Given the description of an element on the screen output the (x, y) to click on. 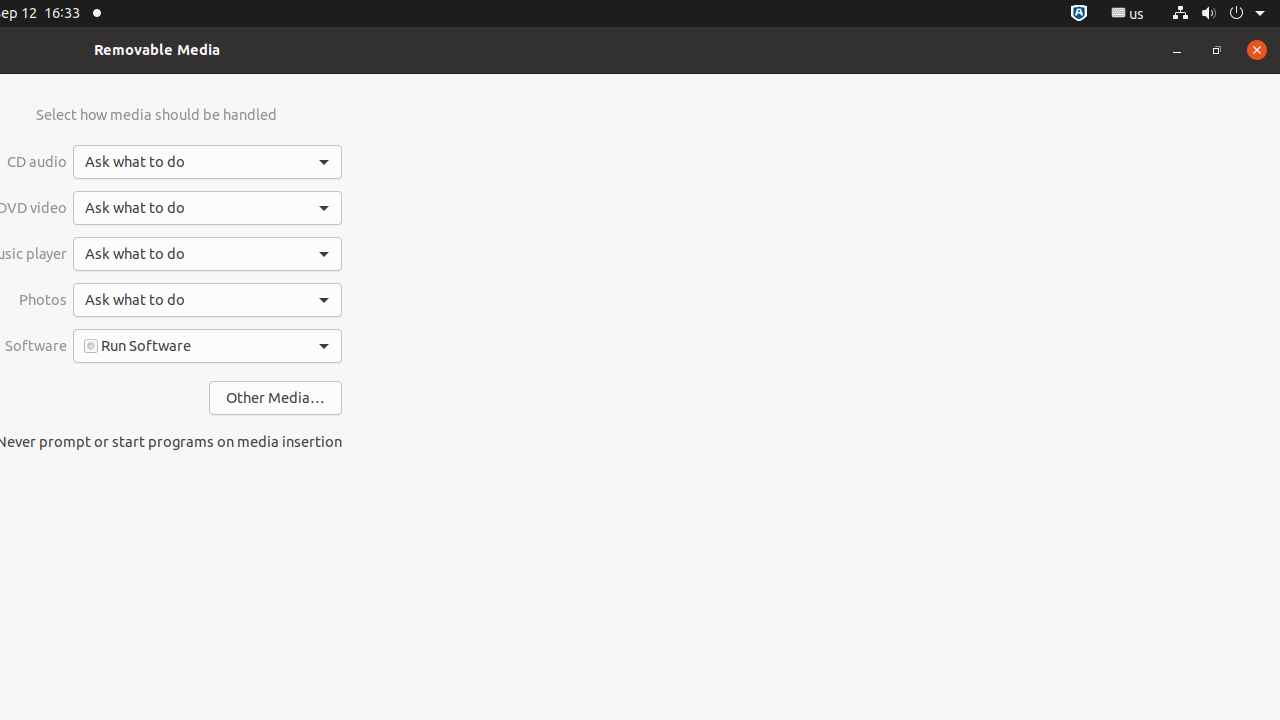
Close Element type: push-button (1257, 50)
Restore Element type: push-button (1217, 50)
Other Media… Element type: push-button (275, 397)
